Given the description of an element on the screen output the (x, y) to click on. 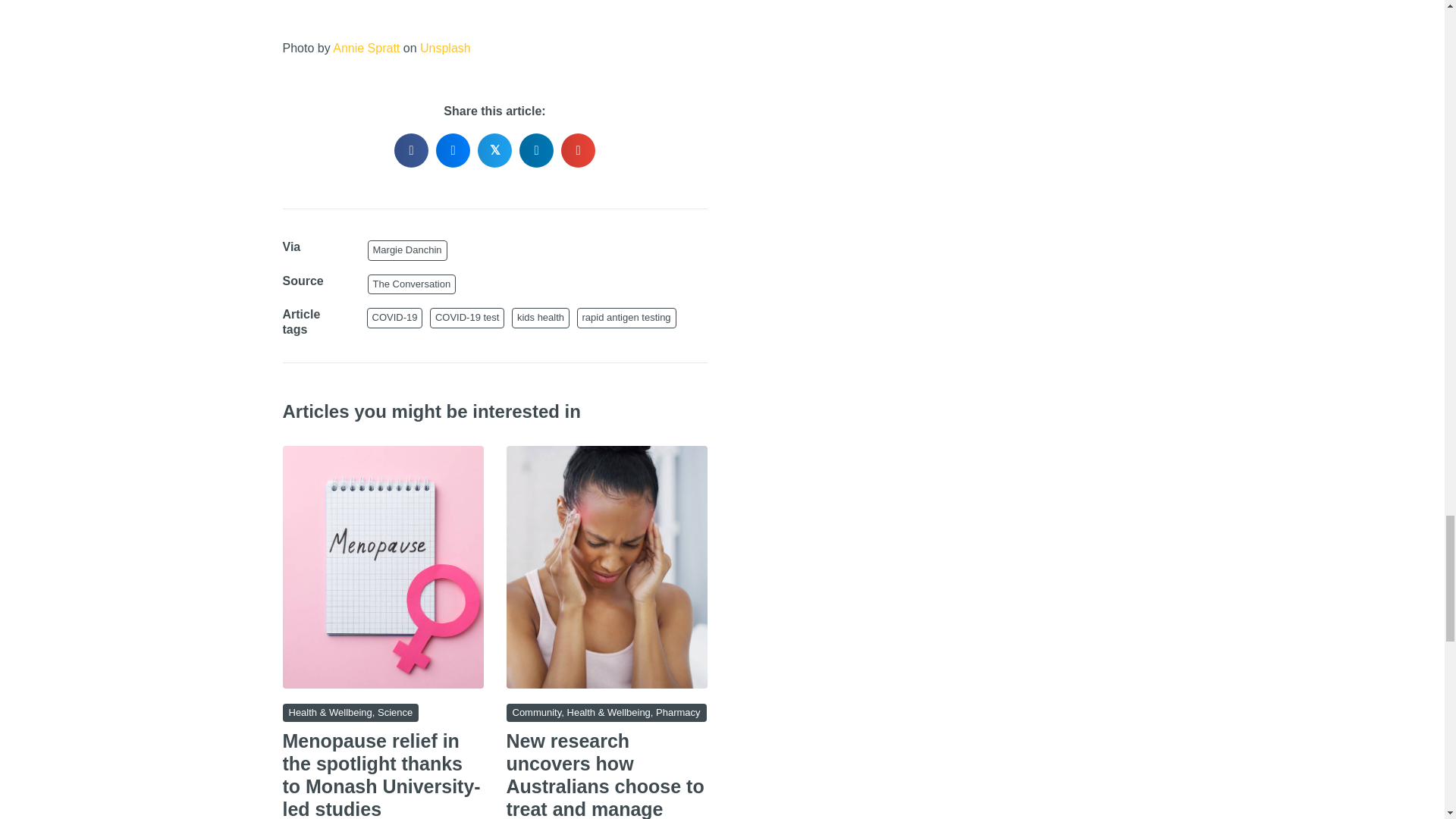
kids health (540, 317)
rapid antigen testing (626, 317)
COVID-19 test (467, 317)
Annie Spratt (365, 47)
Margie Danchin (406, 250)
Unsplash (445, 47)
The Conversation (410, 284)
COVID-19 (394, 317)
Science (394, 712)
